Given the description of an element on the screen output the (x, y) to click on. 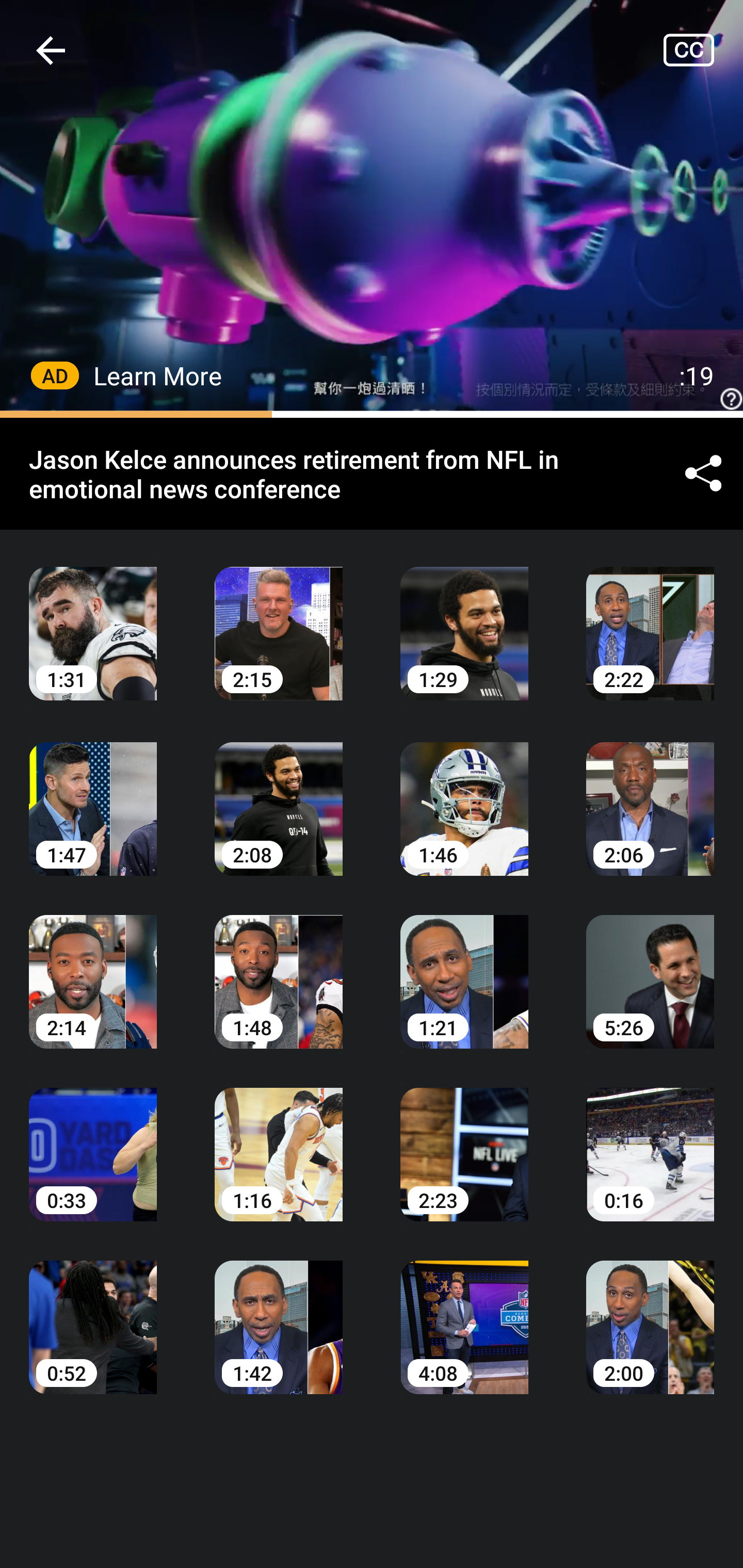
help_outline_white_24dp_with_3px_trbl_padding (371, 209)
Navigate up (50, 50)
Closed captions  (703, 49)
Learn More (157, 375)
help_outline_white_24dp_with_3px_trbl_padding (728, 399)
Share © (703, 474)
1:31 (92, 618)
2:15 (278, 618)
1:29 (464, 618)
2:22 (650, 618)
1:47 (92, 794)
2:08 (278, 794)
1:46 (464, 794)
2:06 (650, 794)
2:14 (92, 967)
1:48 (278, 967)
1:21 (464, 967)
5:26 (650, 967)
0:33 (92, 1139)
1:16 (278, 1139)
2:23 (464, 1139)
0:16 (650, 1139)
0:52 (92, 1312)
1:42 (278, 1312)
4:08 (464, 1312)
2:00 (650, 1312)
